Given the description of an element on the screen output the (x, y) to click on. 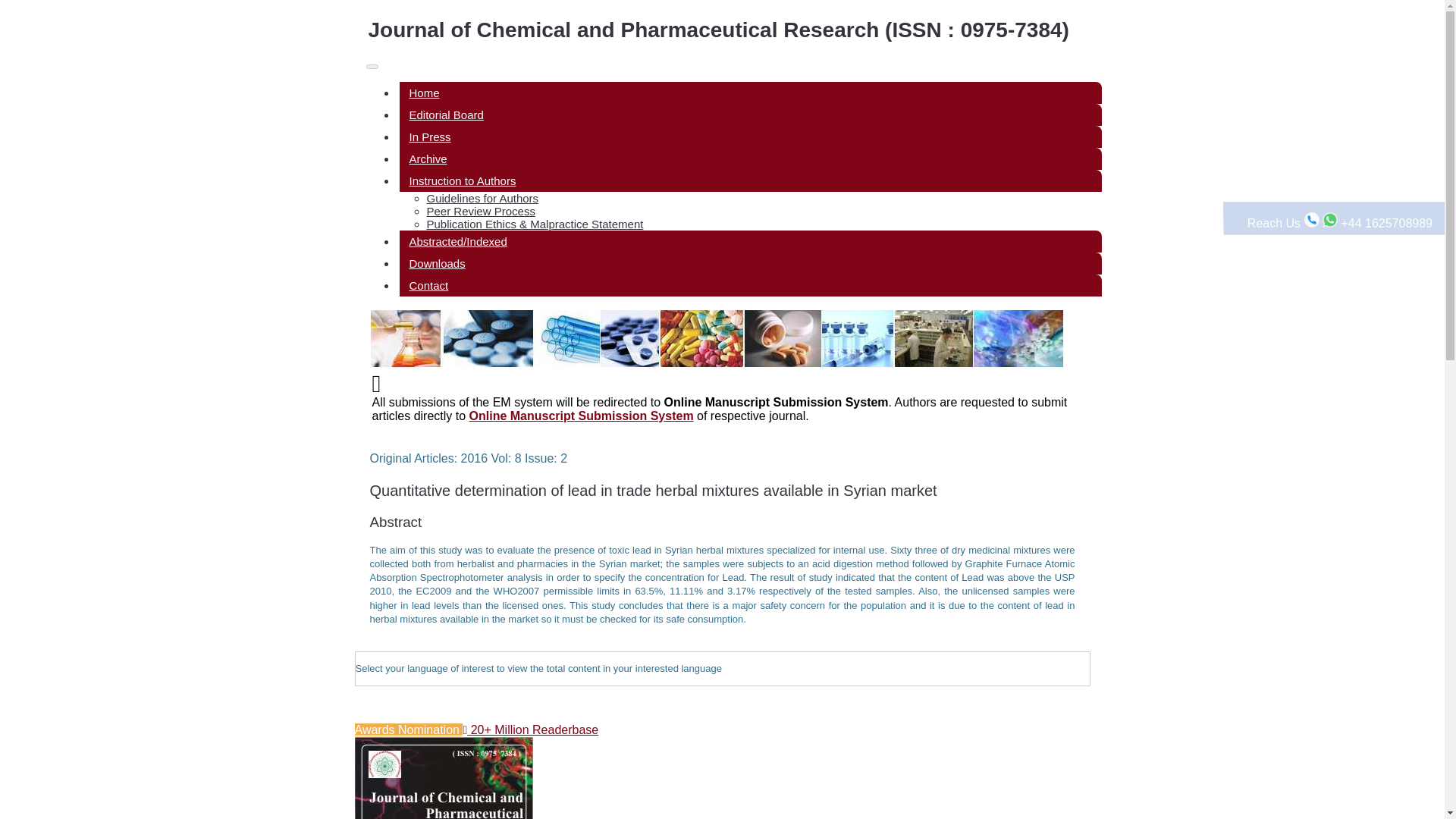
Editorial Board (749, 115)
Click here (749, 158)
Downloads (749, 263)
Click here (749, 241)
In Press (749, 137)
Online Manuscript Submission System (581, 415)
Archive (749, 158)
Click here (749, 92)
Awards Nomination (409, 729)
Contact (749, 285)
